Given the description of an element on the screen output the (x, y) to click on. 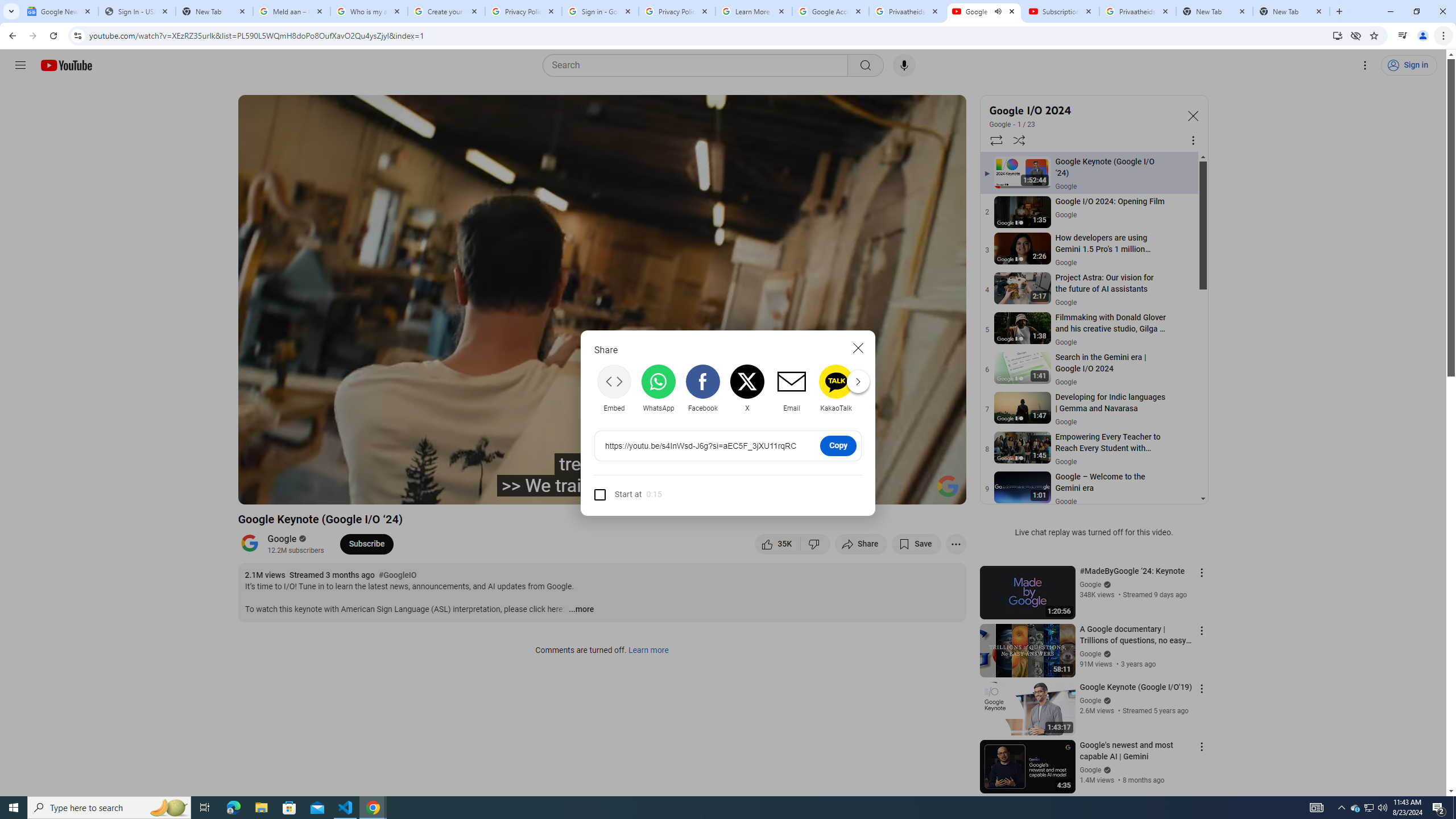
Google Account (830, 11)
#GoogleIO (397, 575)
Miniplayer (i) (890, 490)
Sign in - Google Accounts (599, 11)
like this video along with 35,367 other people (777, 543)
More actions (955, 543)
Reddit (879, 387)
